Given the description of an element on the screen output the (x, y) to click on. 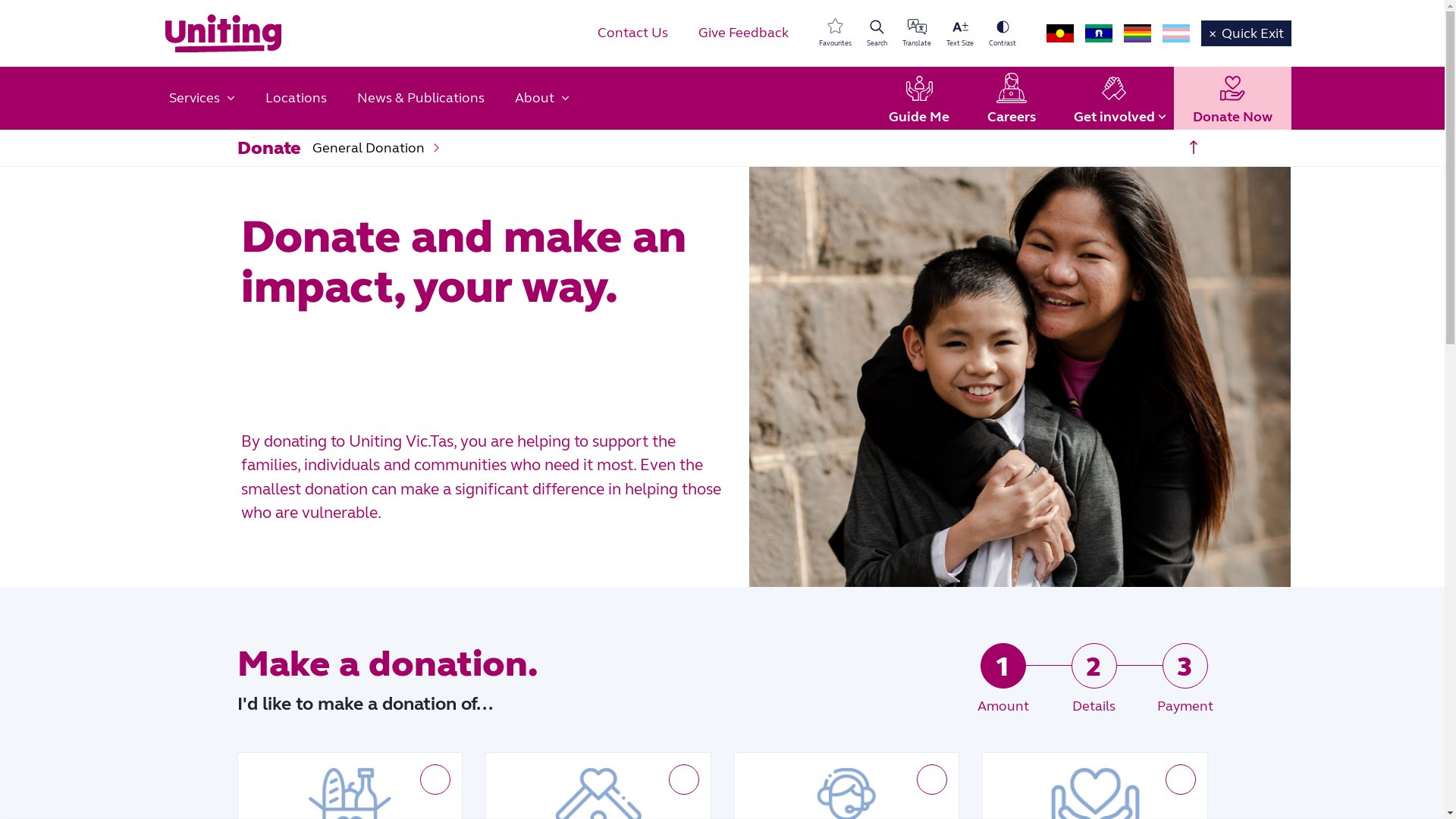
Contrast Element type: text (1002, 32)
News & Publications Element type: text (419, 98)
Locations Element type: text (296, 98)
Translate Element type: text (916, 32)
Favourites Element type: text (835, 33)
Text Size Element type: text (959, 32)
Contact Us Element type: text (632, 32)
Guide Me Element type: text (918, 98)
Search Element type: text (876, 32)
Uniting Element type: text (223, 33)
Get involved Element type: text (1113, 98)
Donate Now Element type: text (1232, 98)
Careers Element type: text (1010, 98)
About Element type: text (540, 98)
Scroll to top Element type: text (1192, 147)
Services Element type: text (201, 98)
Give Feedback Element type: text (743, 32)
